Given the description of an element on the screen output the (x, y) to click on. 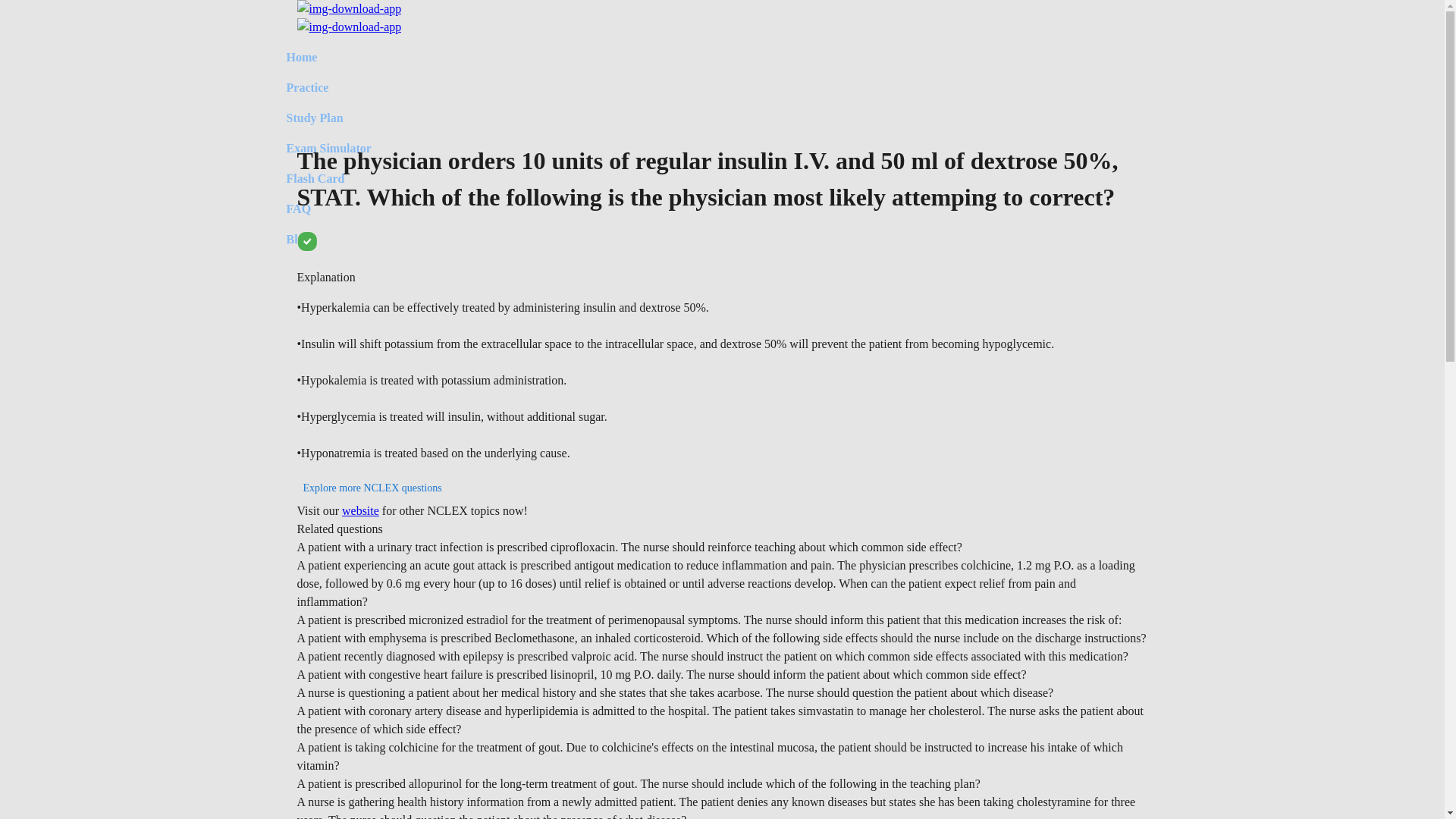
Study Plan (328, 117)
Exam Simulator (328, 148)
Practice (328, 87)
Explore more NCLEX questions (372, 488)
FAQ (328, 208)
Explore more NCLEX questions (372, 486)
